Given the description of an element on the screen output the (x, y) to click on. 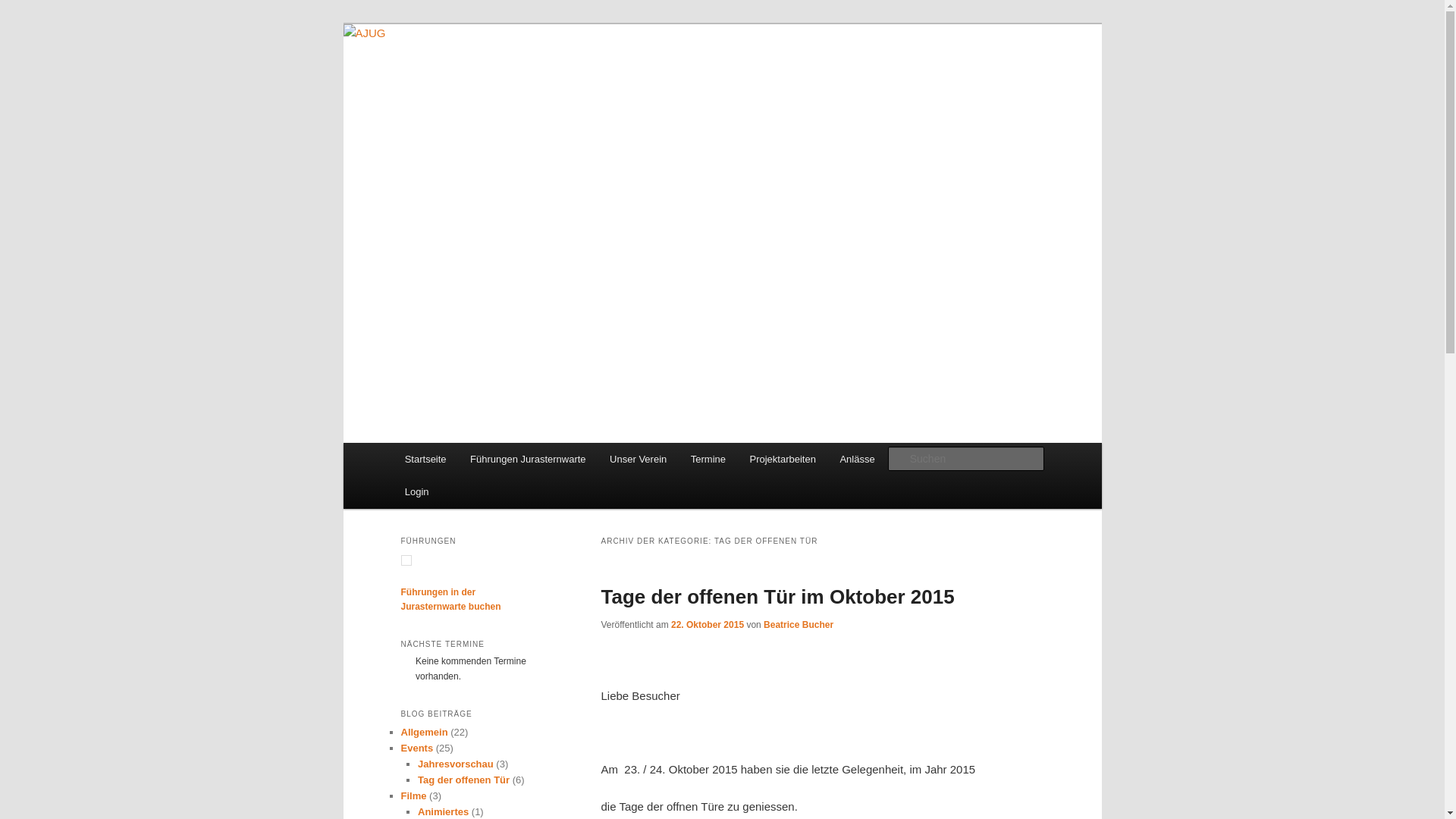
Jahresvorschau Element type: text (455, 763)
Login Element type: text (416, 491)
AJUG Element type: text (431, 78)
22. Oktober 2015 Element type: text (707, 624)
Projektarbeiten Element type: text (782, 458)
Filme Element type: text (413, 795)
Suchen Element type: text (25, 8)
Unser Verein Element type: text (637, 458)
Termine Element type: text (707, 458)
Zum Inhalt wechseln Element type: text (22, 22)
Events Element type: text (416, 747)
Animiertes Element type: text (442, 811)
Startseite Element type: text (425, 458)
Allgemein Element type: text (423, 731)
Beatrice Bucher Element type: text (798, 624)
